Given the description of an element on the screen output the (x, y) to click on. 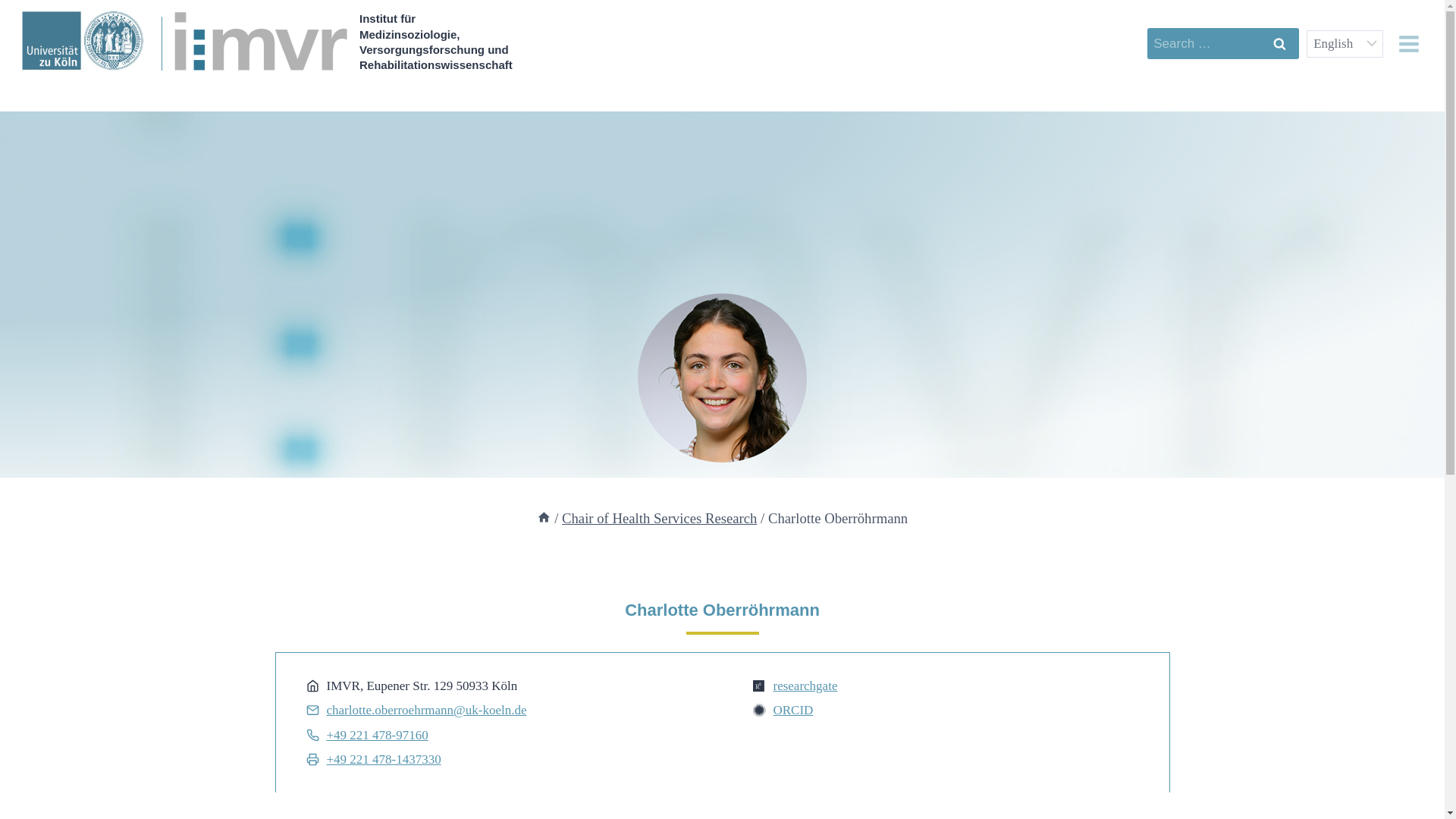
Chair of Health Services Research (659, 518)
ORCID (793, 709)
Home (544, 518)
researchgate (805, 685)
Search (1279, 42)
Search (1279, 42)
Search (1279, 42)
